Given the description of an element on the screen output the (x, y) to click on. 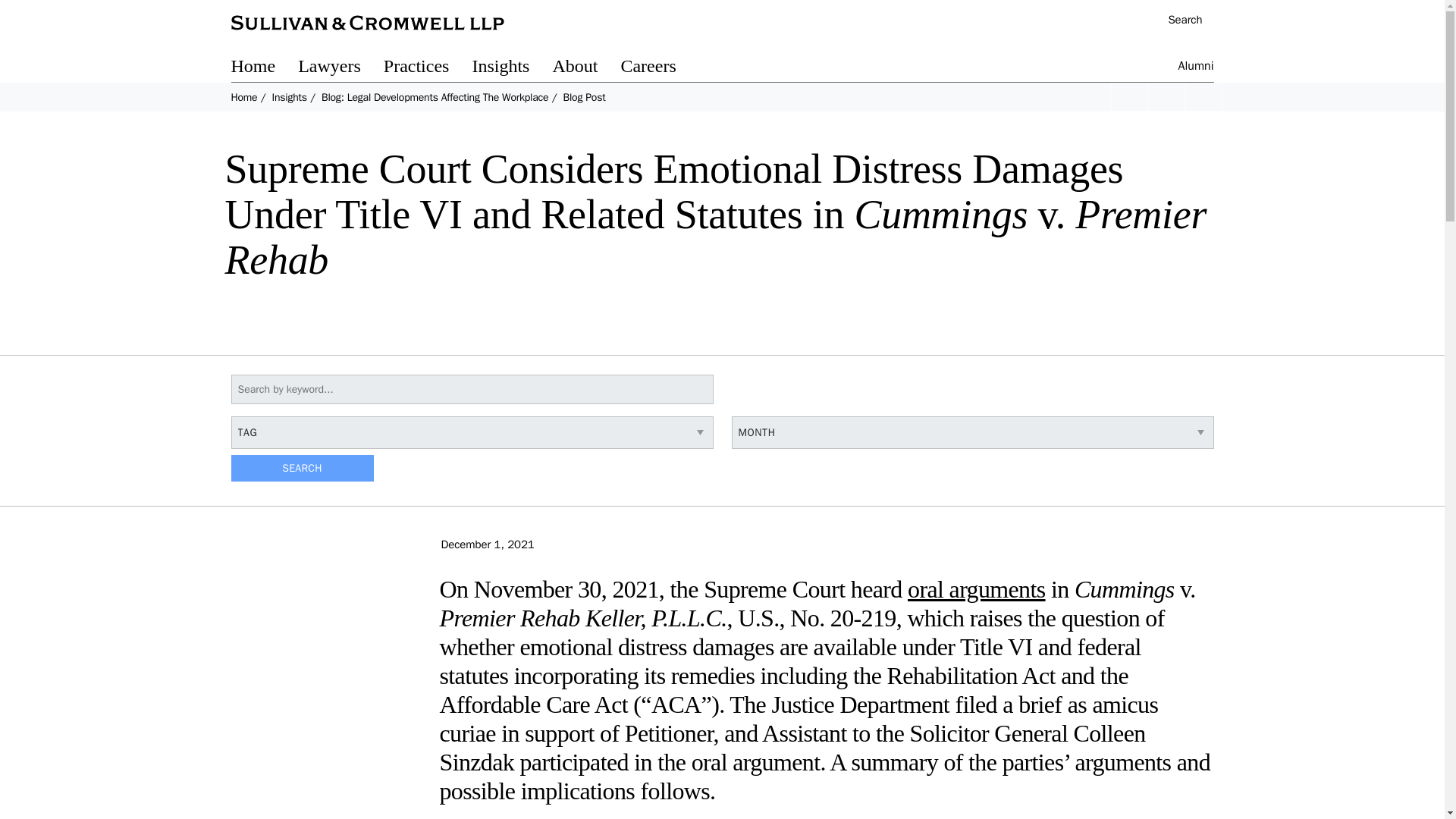
Insights (511, 67)
Alumni (1195, 67)
SEARCH (301, 468)
Insights (287, 97)
About (585, 67)
Practices (427, 67)
Home (243, 97)
oral arguments (976, 588)
Blog: Legal Developments Affecting The Workplace (434, 97)
Lawyers (341, 67)
